Given the description of an element on the screen output the (x, y) to click on. 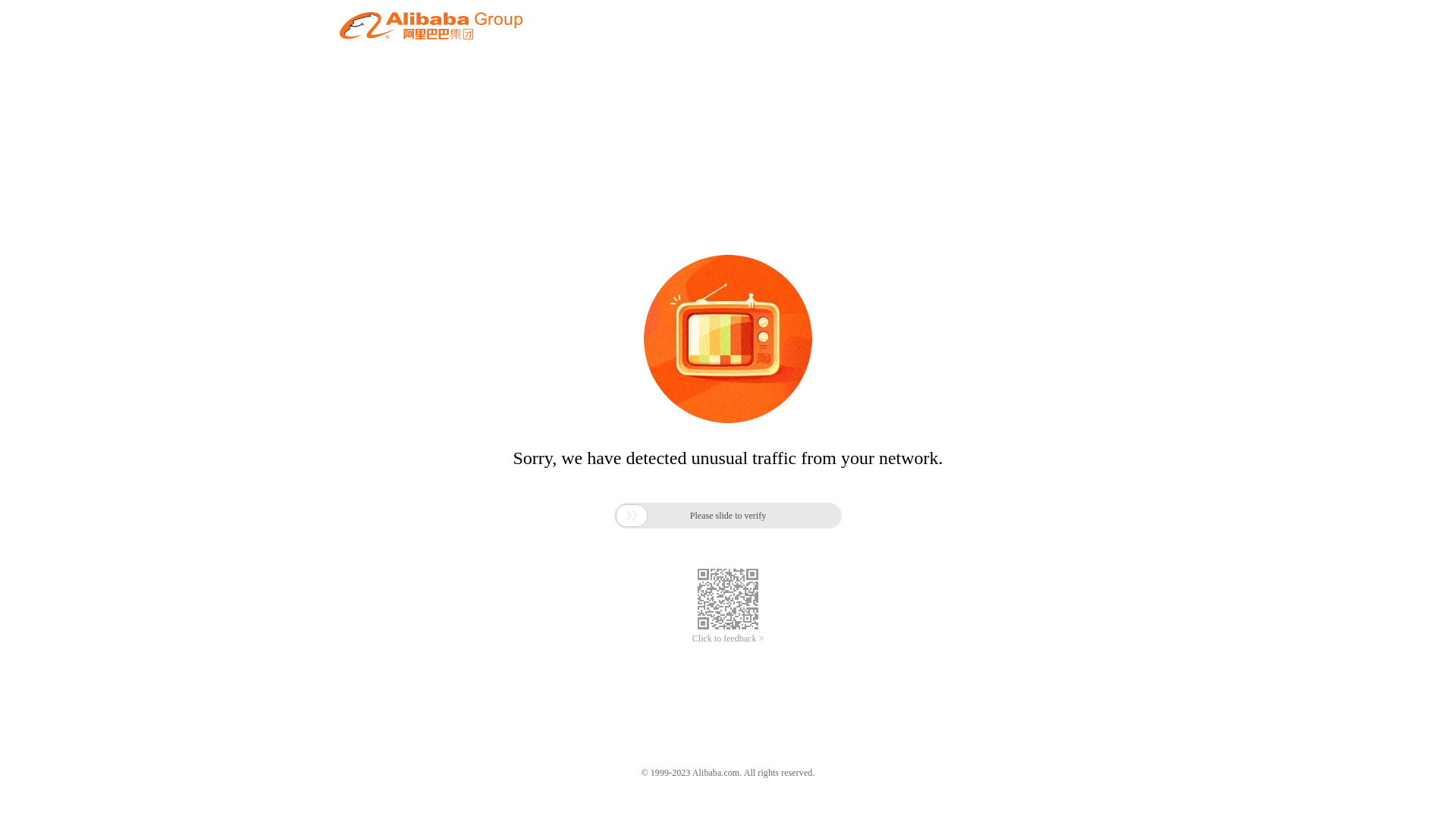
Click to feedback > Element type: text (727, 638)
